Given the description of an element on the screen output the (x, y) to click on. 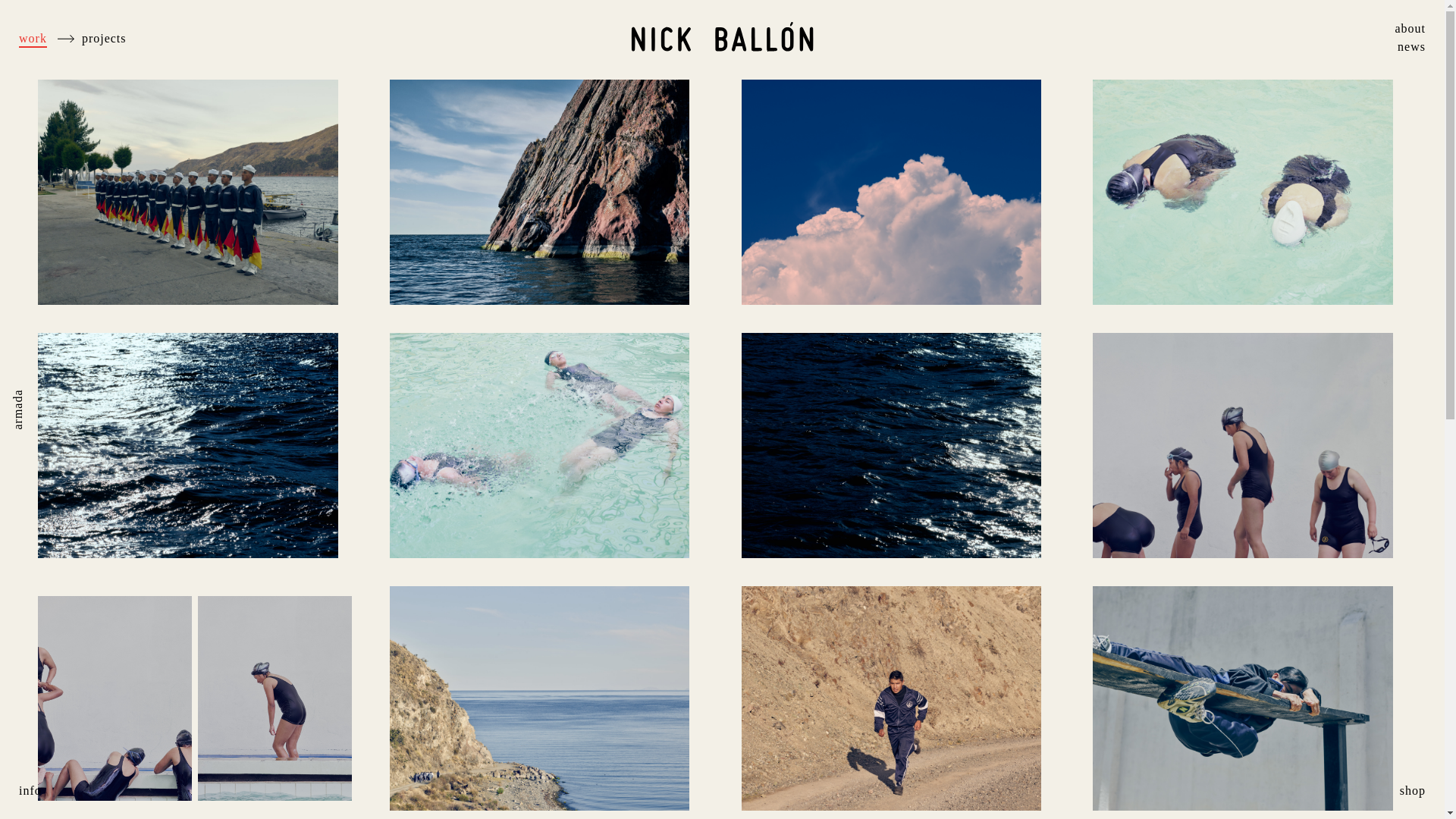
news (1411, 46)
about (1409, 28)
shop (1412, 791)
projects (103, 38)
